Given the description of an element on the screen output the (x, y) to click on. 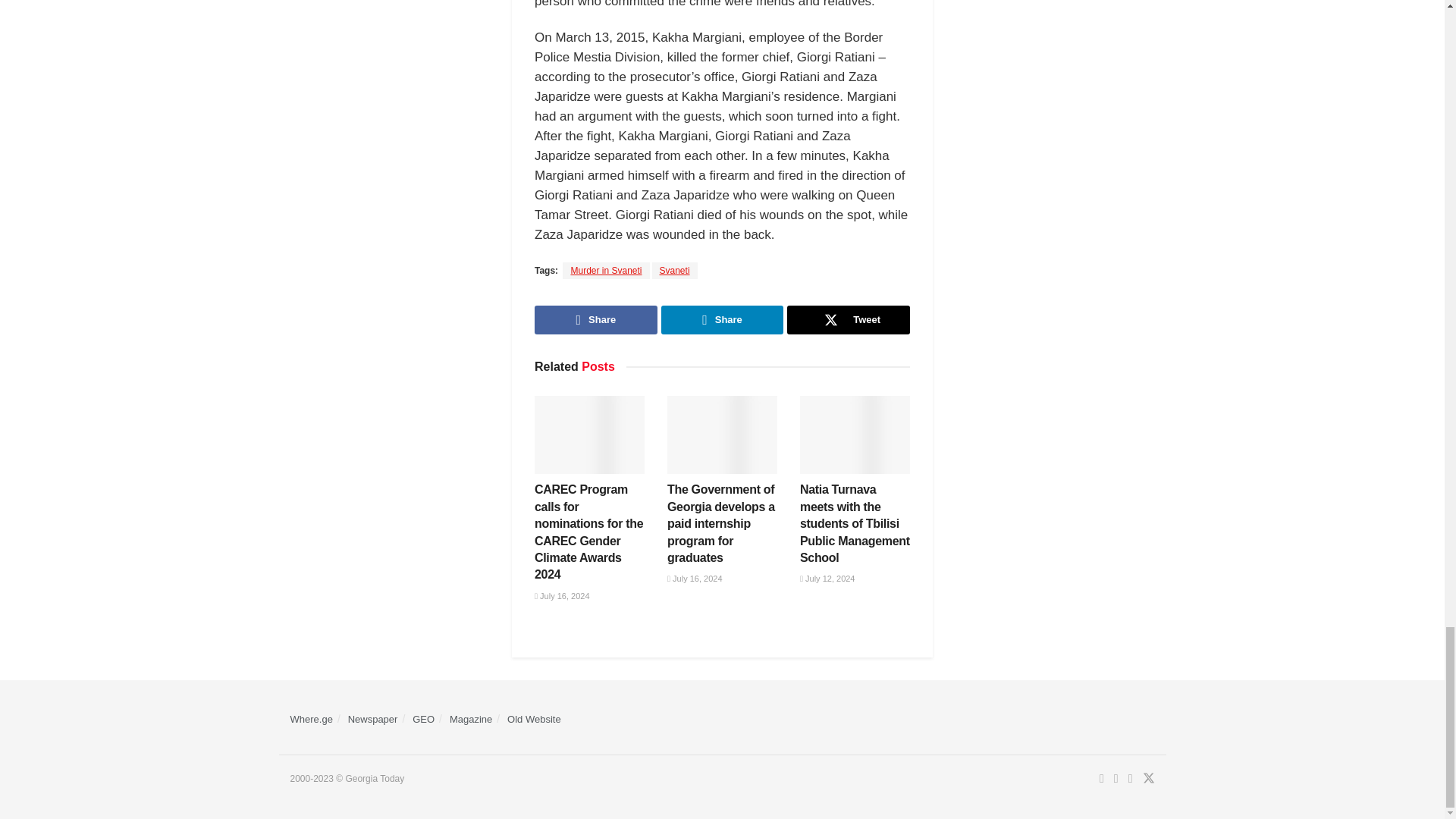
Murder in Svaneti (605, 270)
